Given the description of an element on the screen output the (x, y) to click on. 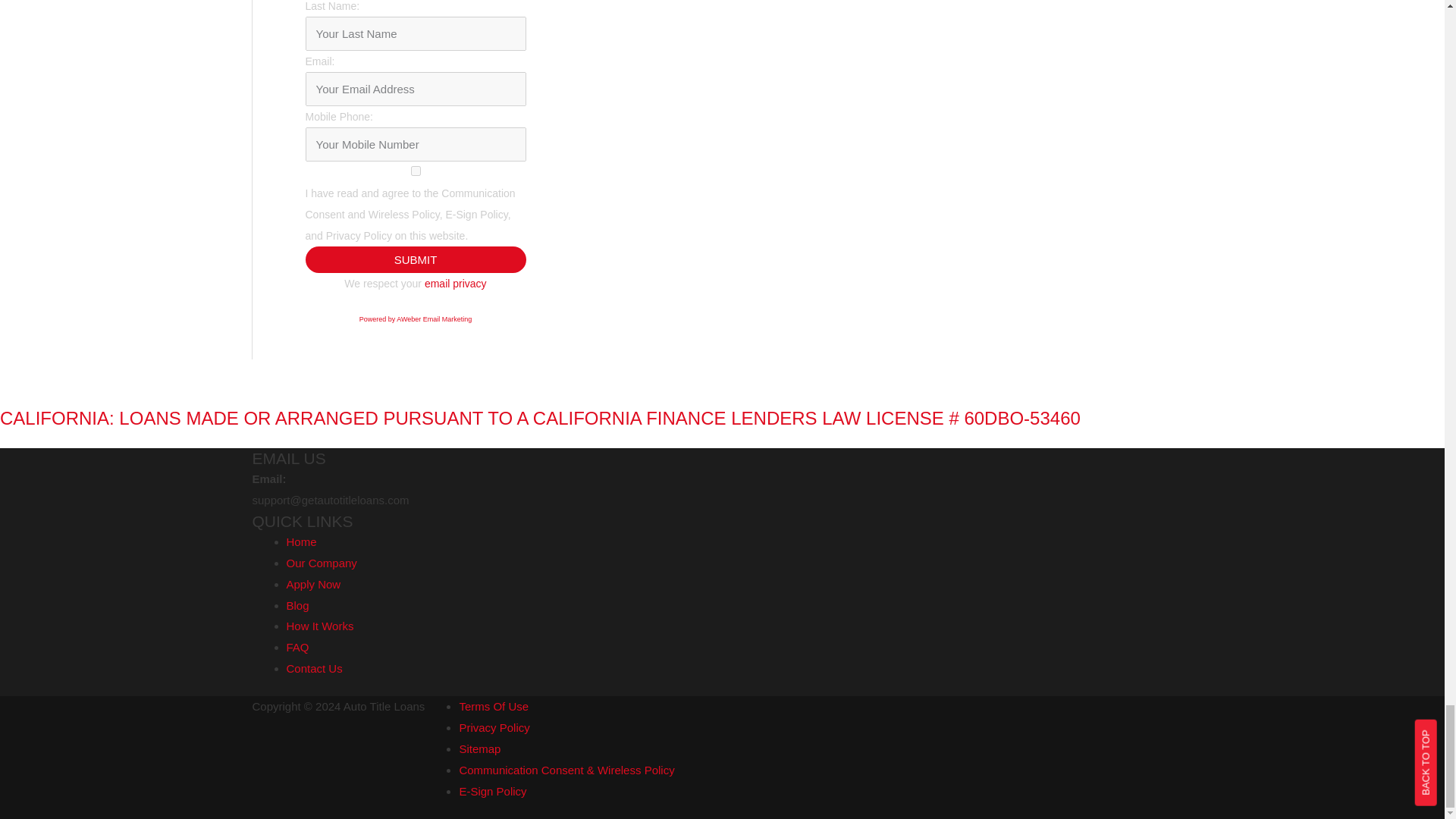
Sitemap (479, 748)
Blog (297, 604)
Submit (414, 259)
Powered by AWeber Email Marketing (415, 318)
Apply Now (313, 584)
Privacy Policy (493, 727)
email privacy (455, 283)
How It Works (319, 625)
yes (414, 171)
Home (301, 541)
AWeber Email Marketing (415, 318)
Privacy Policy (455, 283)
Your Email Address (414, 89)
Contact Us (314, 667)
Submit (414, 259)
